Given the description of an element on the screen output the (x, y) to click on. 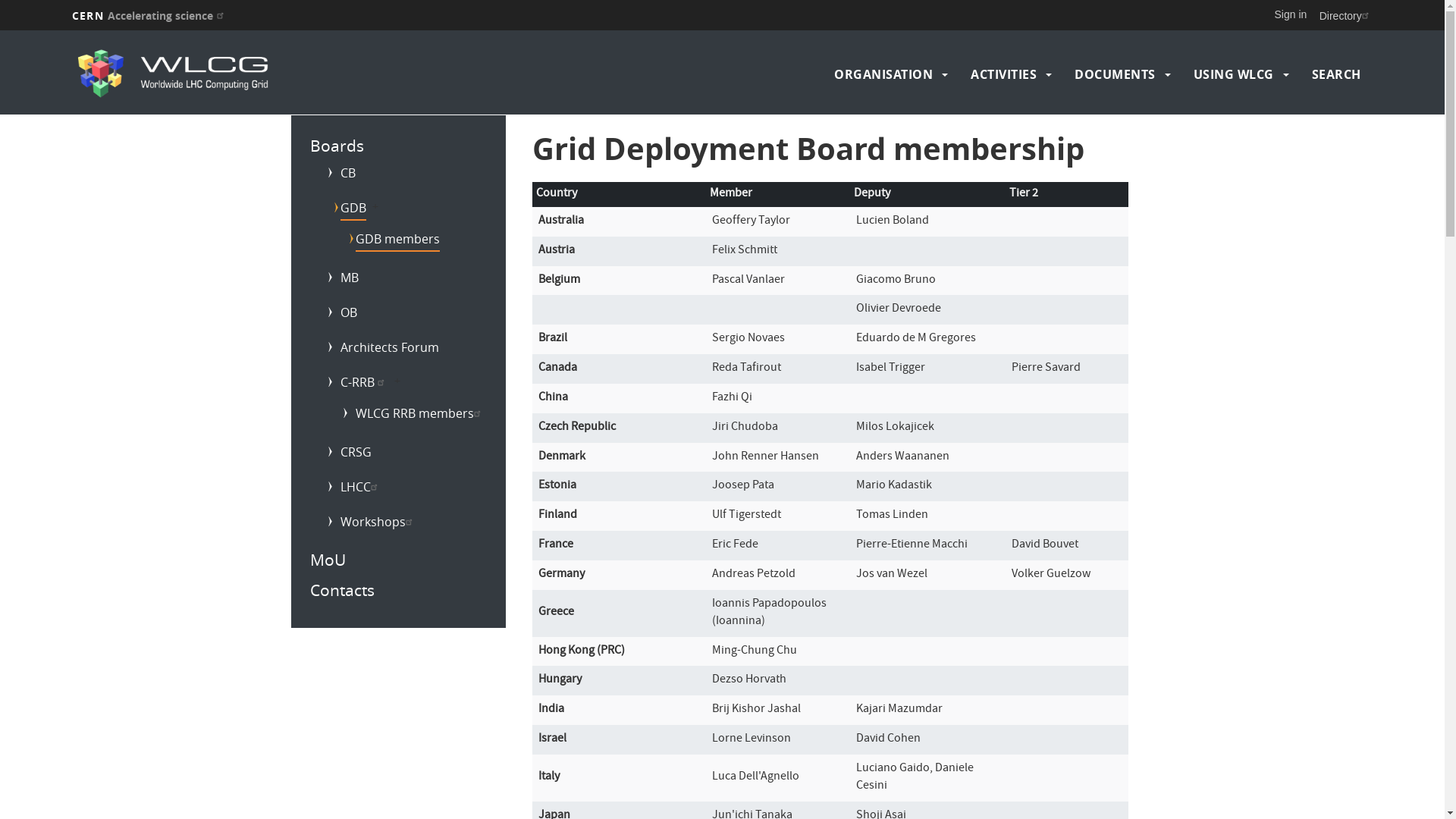
CRSG Element type: text (347, 453)
WLCG RRB members(link is external) Element type: text (411, 414)
OB Element type: text (340, 313)
MoU Element type: text (327, 559)
Architects Forum Element type: text (381, 348)
Sign in Element type: text (1290, 14)
GDB Element type: text (344, 208)
Boards Element type: text (336, 145)
CERN Accelerating science (link is external) Element type: text (149, 14)
MB Element type: text (340, 278)
Contacts Element type: text (341, 589)
Home Element type: hover (230, 74)
CB Element type: text (339, 174)
SEARCH Element type: text (1336, 74)
LHCC(link is external) Element type: text (352, 488)
C-RRB (link is external) Element type: text (355, 383)
Skip to main content Element type: text (0, 30)
Directory(link is external) Element type: text (1345, 14)
GDB members Element type: text (389, 240)
Workshops(link is external) Element type: text (369, 522)
